Given the description of an element on the screen output the (x, y) to click on. 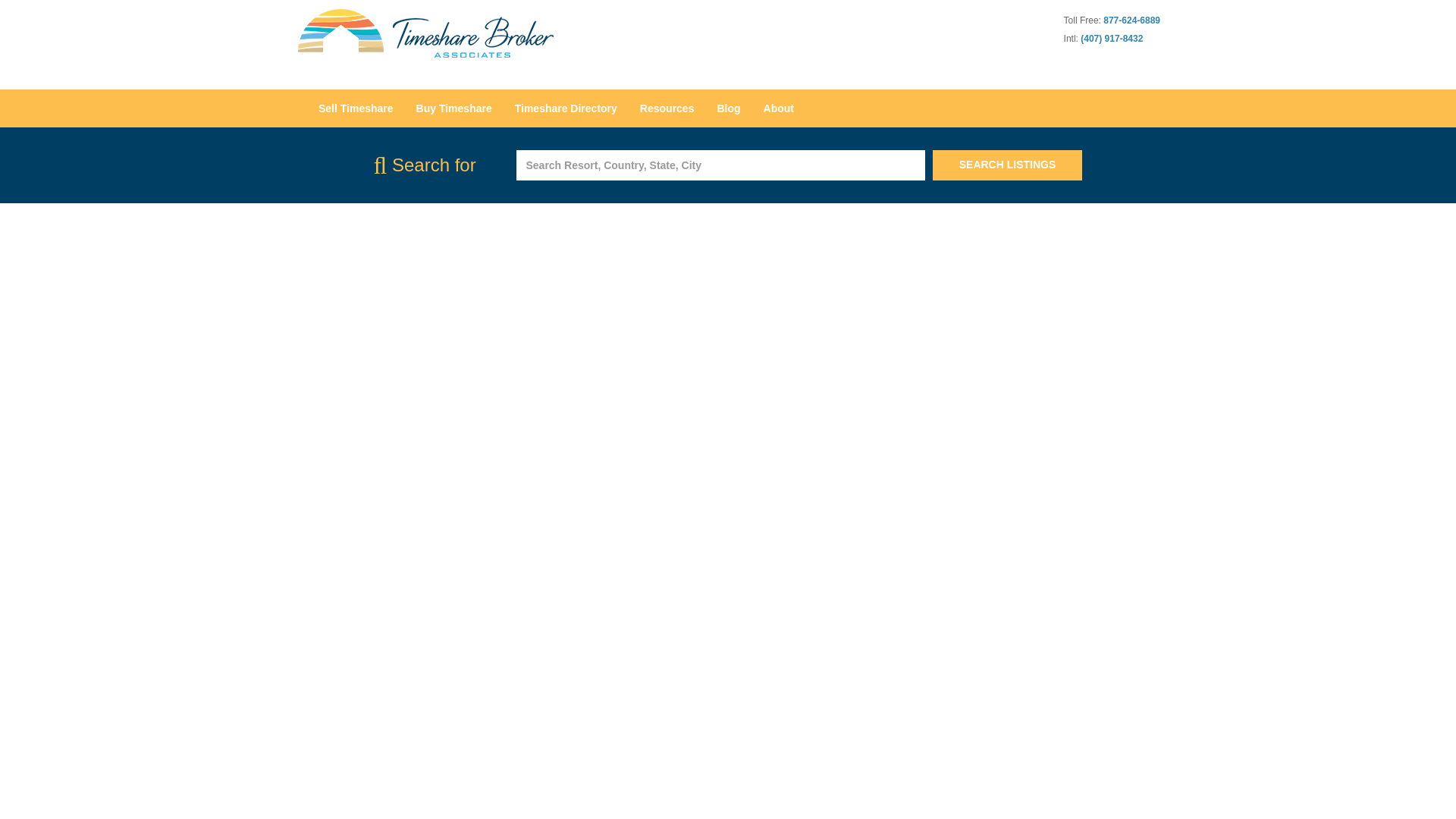
877-624-6889 (1131, 20)
Sell Timeshare (355, 108)
Search Resort, Country, State, City (720, 164)
Search Listings (1008, 164)
Buy Timeshare (453, 108)
Timeshare Directory (565, 108)
